Given the description of an element on the screen output the (x, y) to click on. 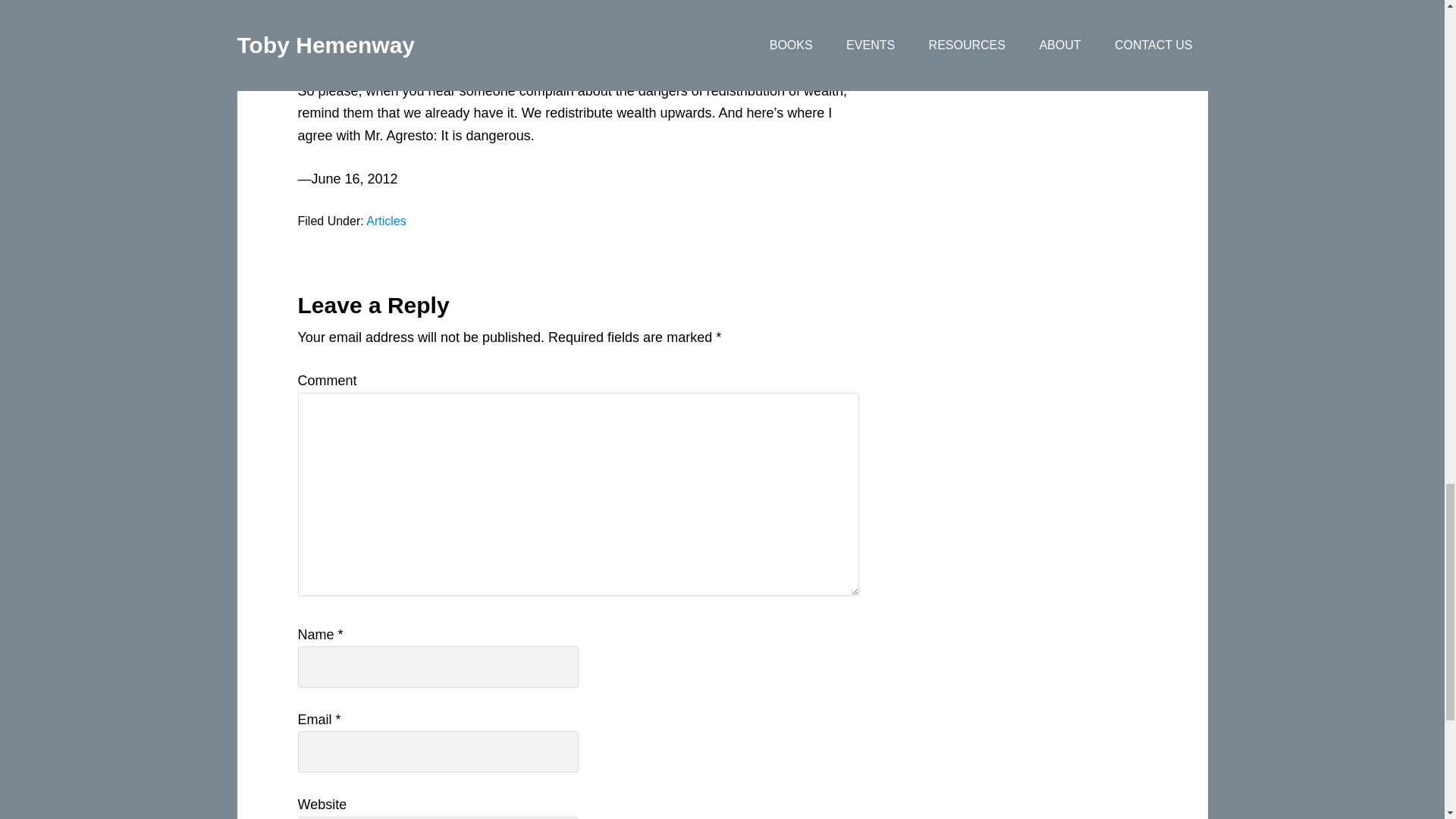
Articles (386, 220)
